Given the description of an element on the screen output the (x, y) to click on. 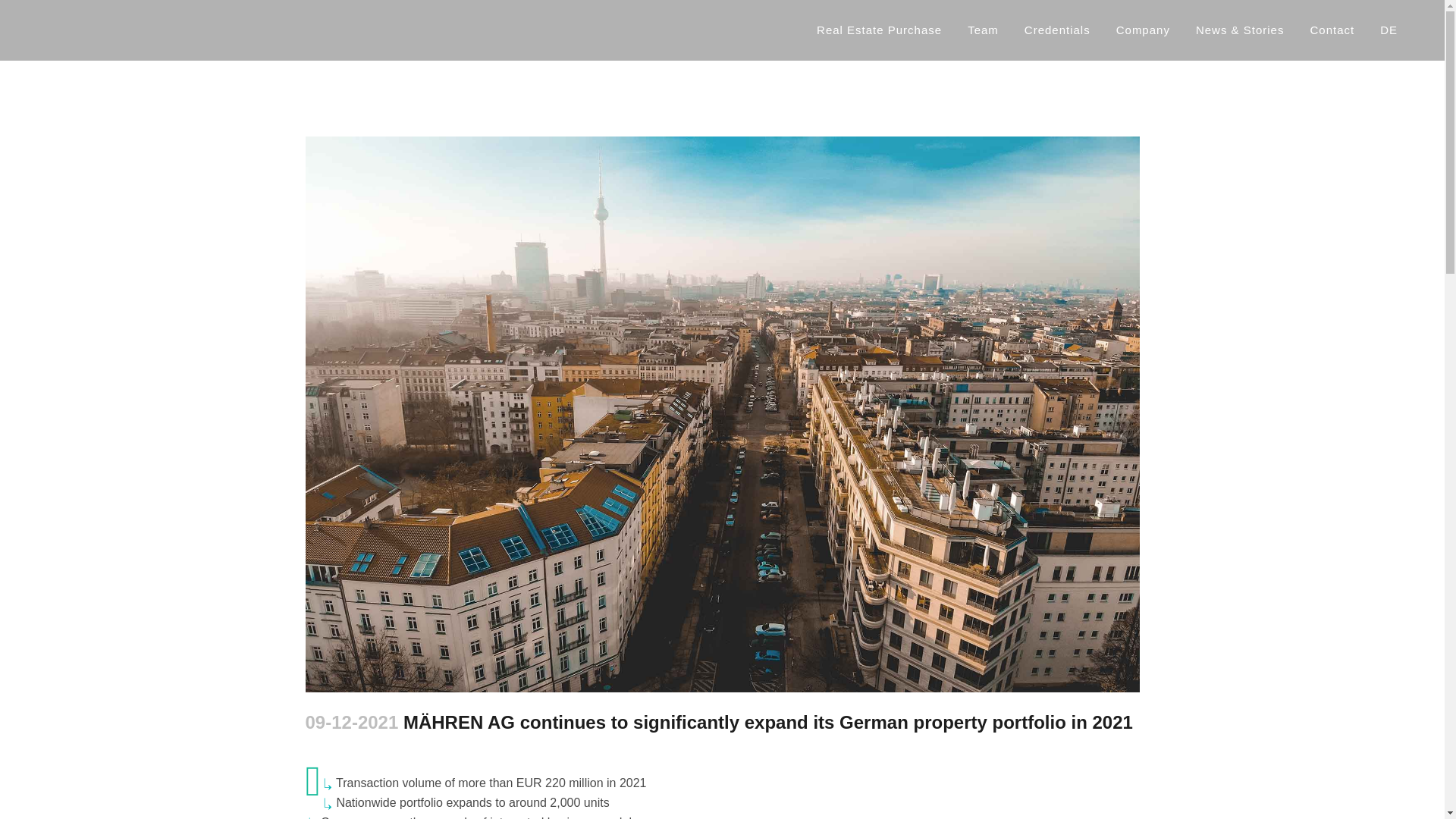
Company (1142, 30)
Credentials (1057, 30)
Real Estate Purchase (879, 30)
Team (983, 30)
Contact (1332, 30)
